Given the description of an element on the screen output the (x, y) to click on. 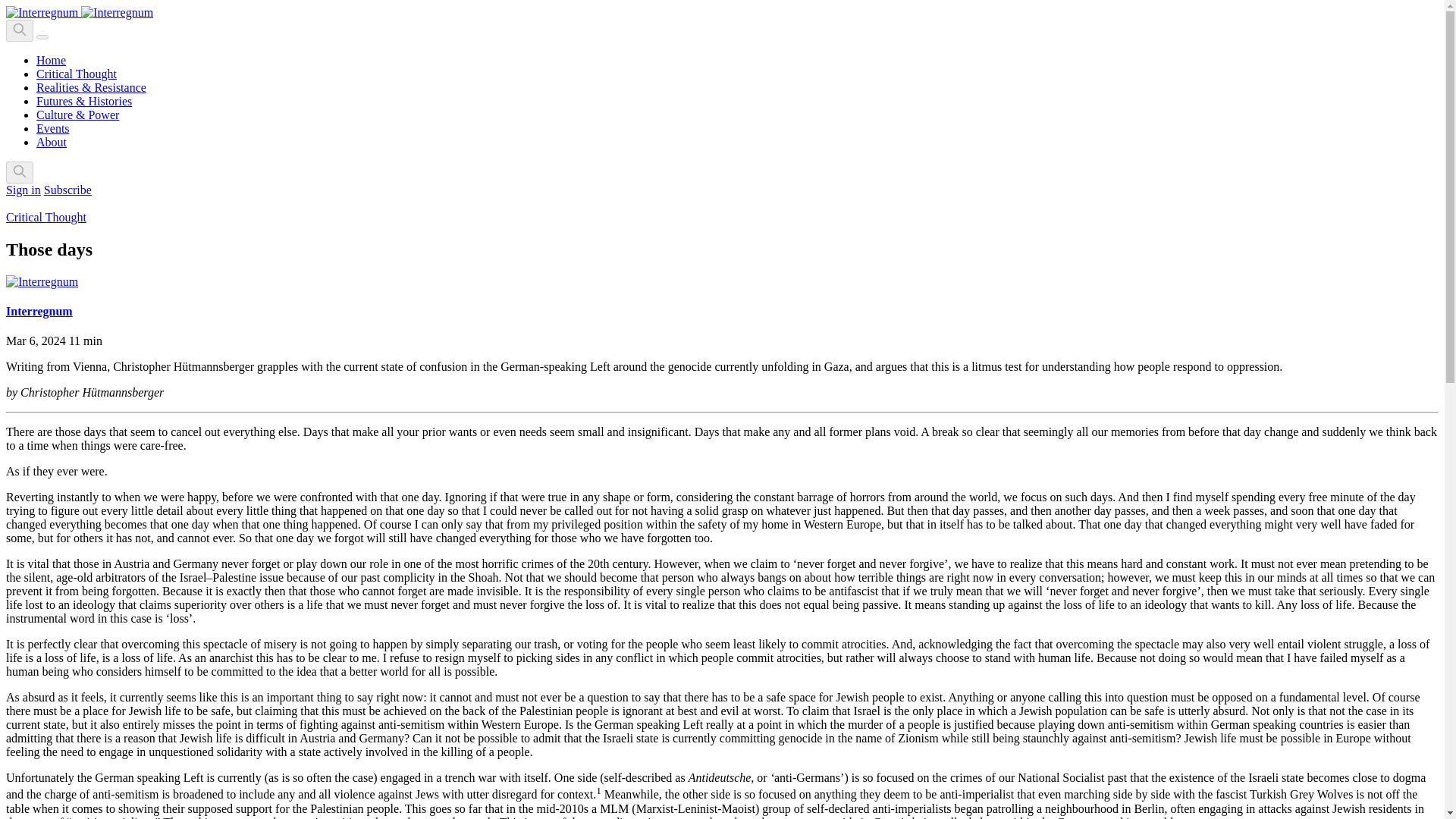
Sign in (22, 189)
About (51, 141)
Critical Thought (76, 73)
Home (50, 60)
Critical Thought (45, 216)
Subscribe (67, 189)
Interregnum (38, 310)
Events (52, 128)
